Given the description of an element on the screen output the (x, y) to click on. 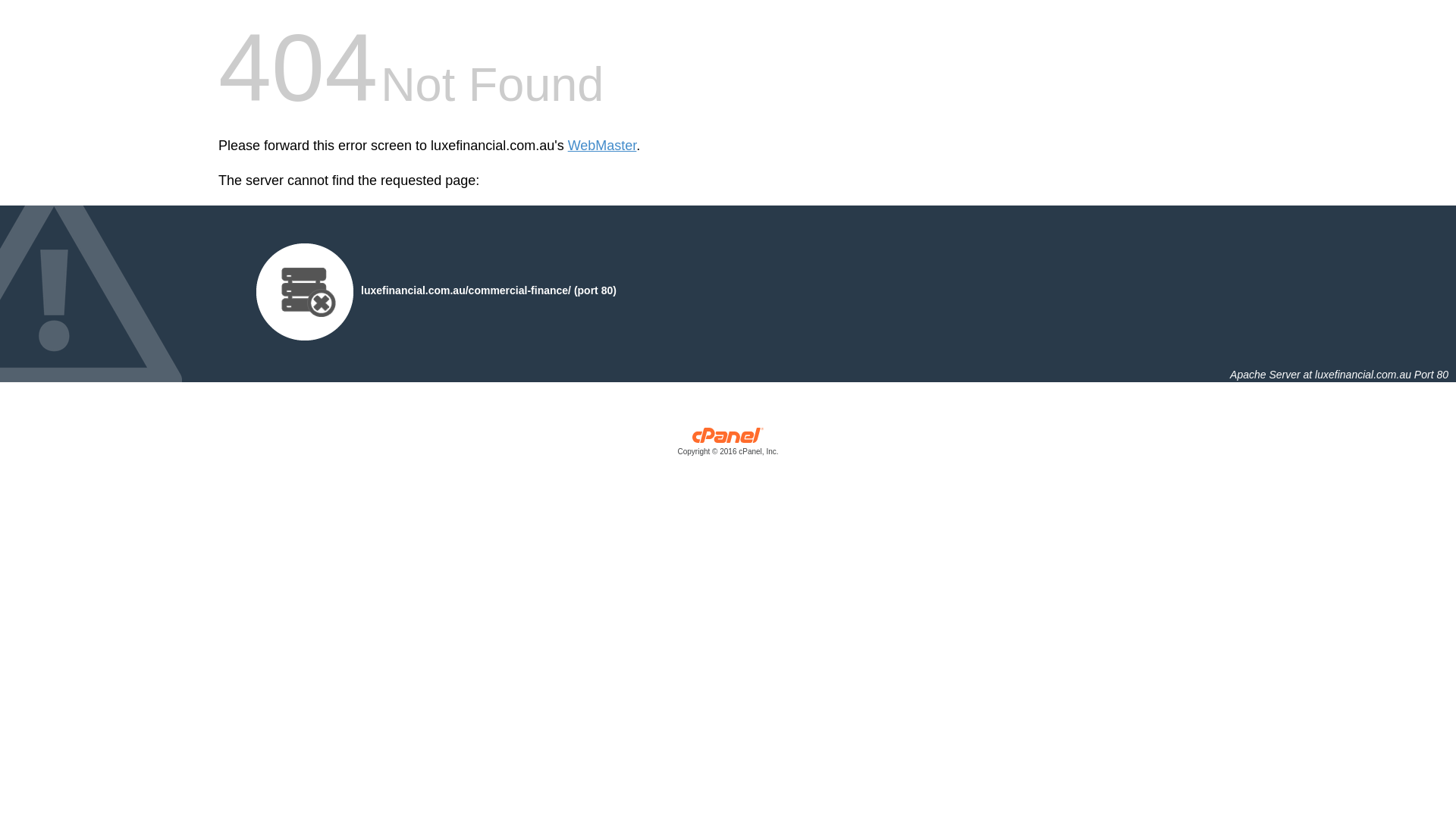
WebMaster Element type: text (602, 145)
